Given the description of an element on the screen output the (x, y) to click on. 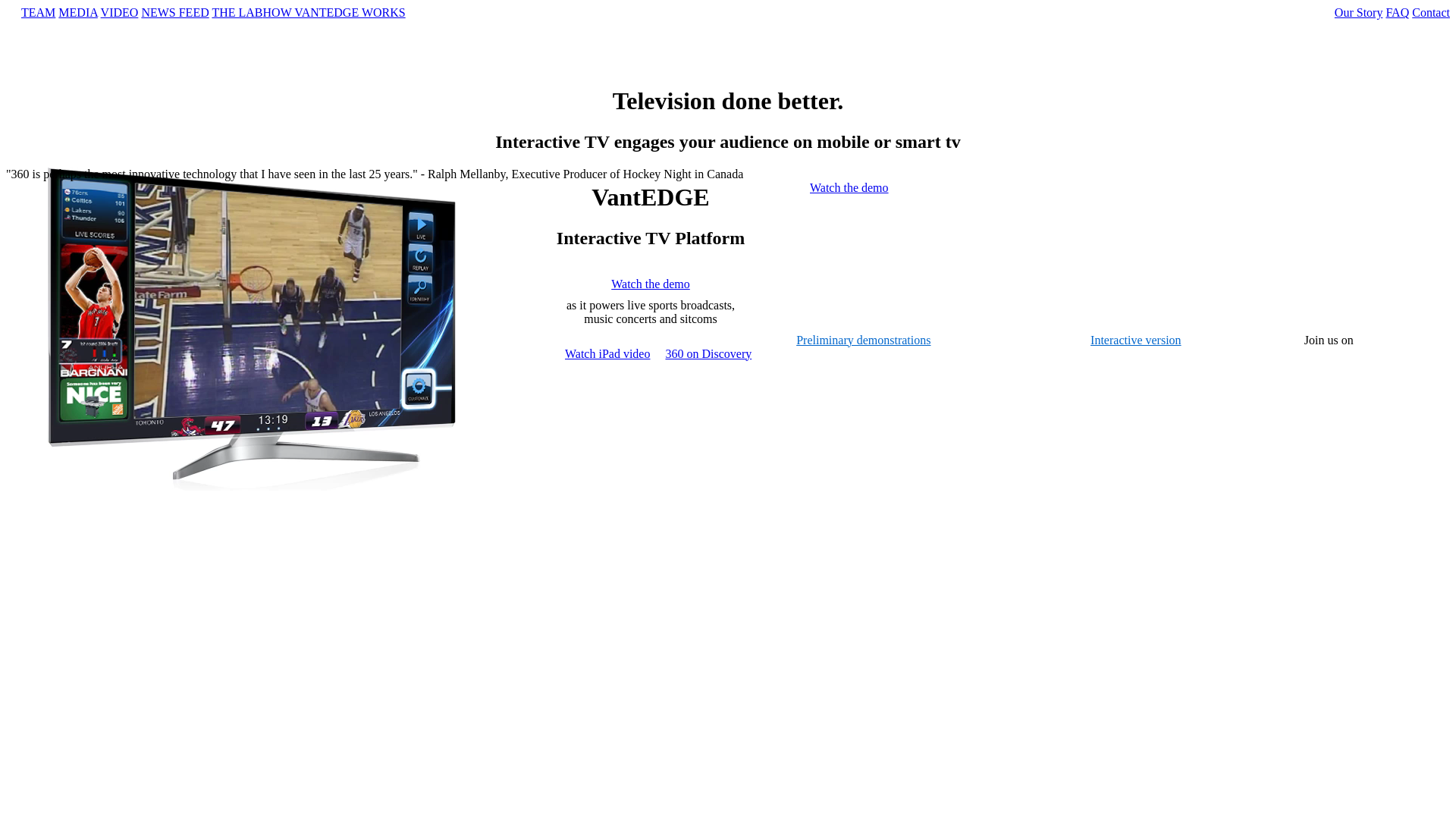
Watch the demo Element type: text (848, 187)
VIDEO Element type: text (119, 12)
Watch iPad video Element type: text (606, 353)
Our Story Element type: text (1358, 12)
HOW VANTEDGE WORKS Element type: text (334, 12)
Interactive version Element type: text (1135, 339)
NEWS FEED Element type: text (174, 12)
Watch the demo Element type: text (650, 283)
THE LAB Element type: text (236, 12)
Contact Element type: text (1430, 12)
360 on Discovery Element type: text (708, 353)
MEDIA Element type: text (77, 12)
Preliminary demonstrations Element type: text (863, 339)
TEAM Element type: text (38, 12)
FAQ Element type: text (1396, 12)
